Given the description of an element on the screen output the (x, y) to click on. 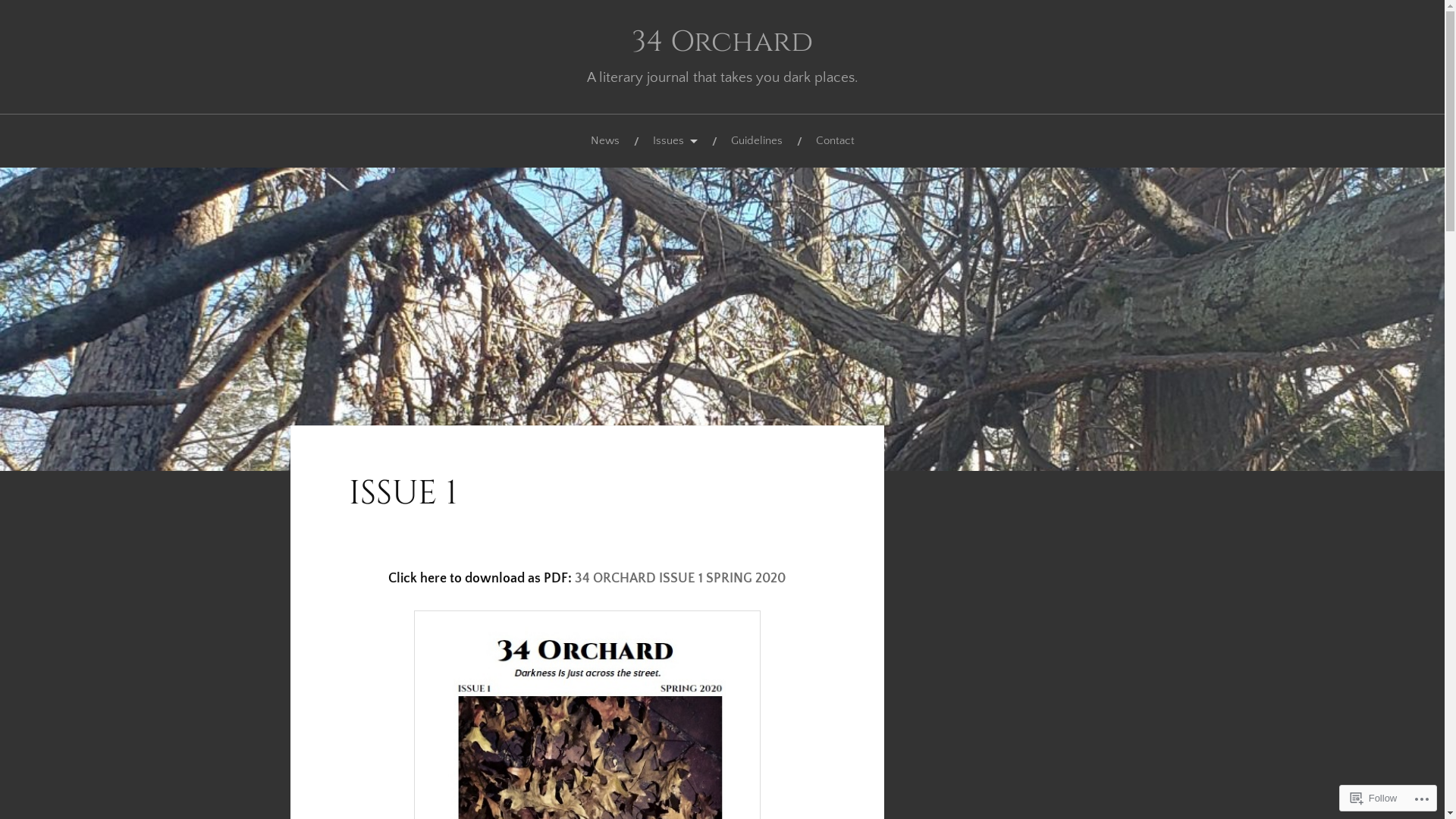
News Element type: text (603, 140)
34 Orchard Element type: text (721, 41)
Issues Element type: text (674, 140)
Guidelines Element type: text (756, 140)
34 ORCHARD ISSUE 1 SPRING 2020 Element type: text (679, 578)
Contact Element type: text (834, 140)
Follow Element type: text (1373, 797)
